Given the description of an element on the screen output the (x, y) to click on. 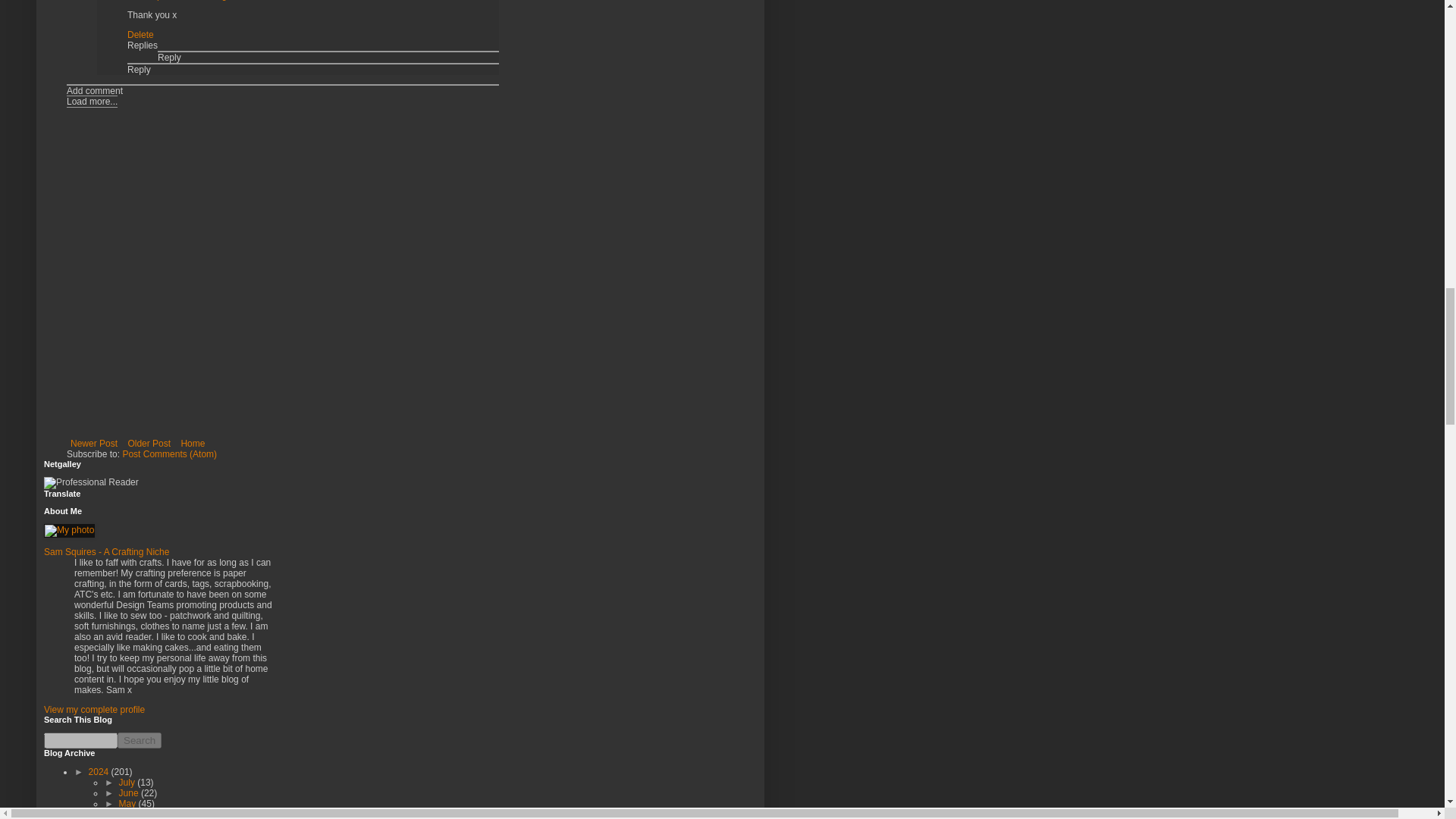
Search (139, 740)
Reply (168, 57)
Reply (139, 69)
search (139, 740)
Newer Post (93, 443)
Replies (142, 45)
Search (139, 740)
Professional Reader (90, 482)
Delete (141, 34)
Add comment (94, 90)
search (80, 740)
Older Post (148, 443)
